Given the description of an element on the screen output the (x, y) to click on. 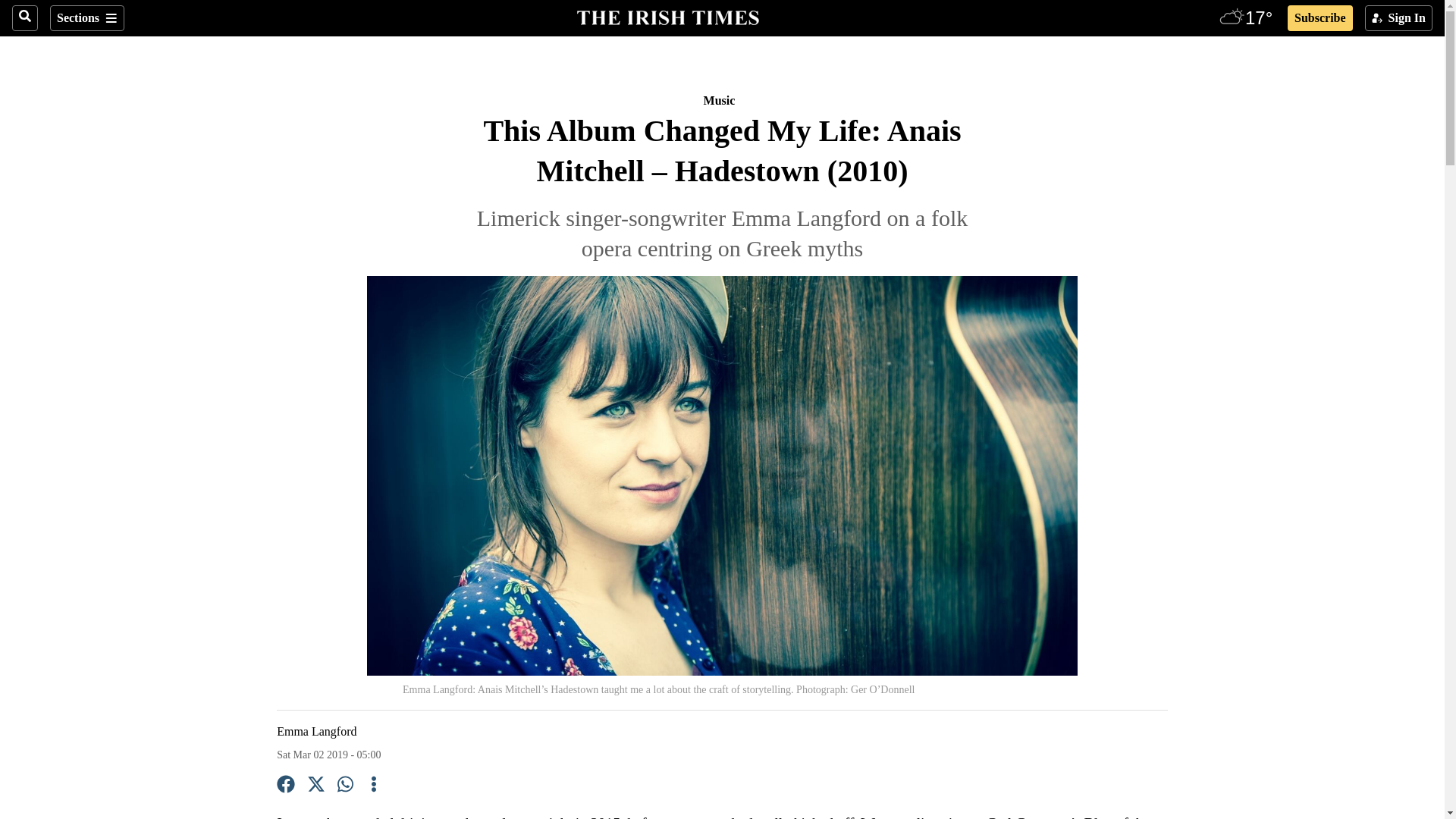
Subscribe (1319, 17)
The Irish Times (667, 16)
Sign In (1398, 17)
Sections (86, 17)
